Given the description of an element on the screen output the (x, y) to click on. 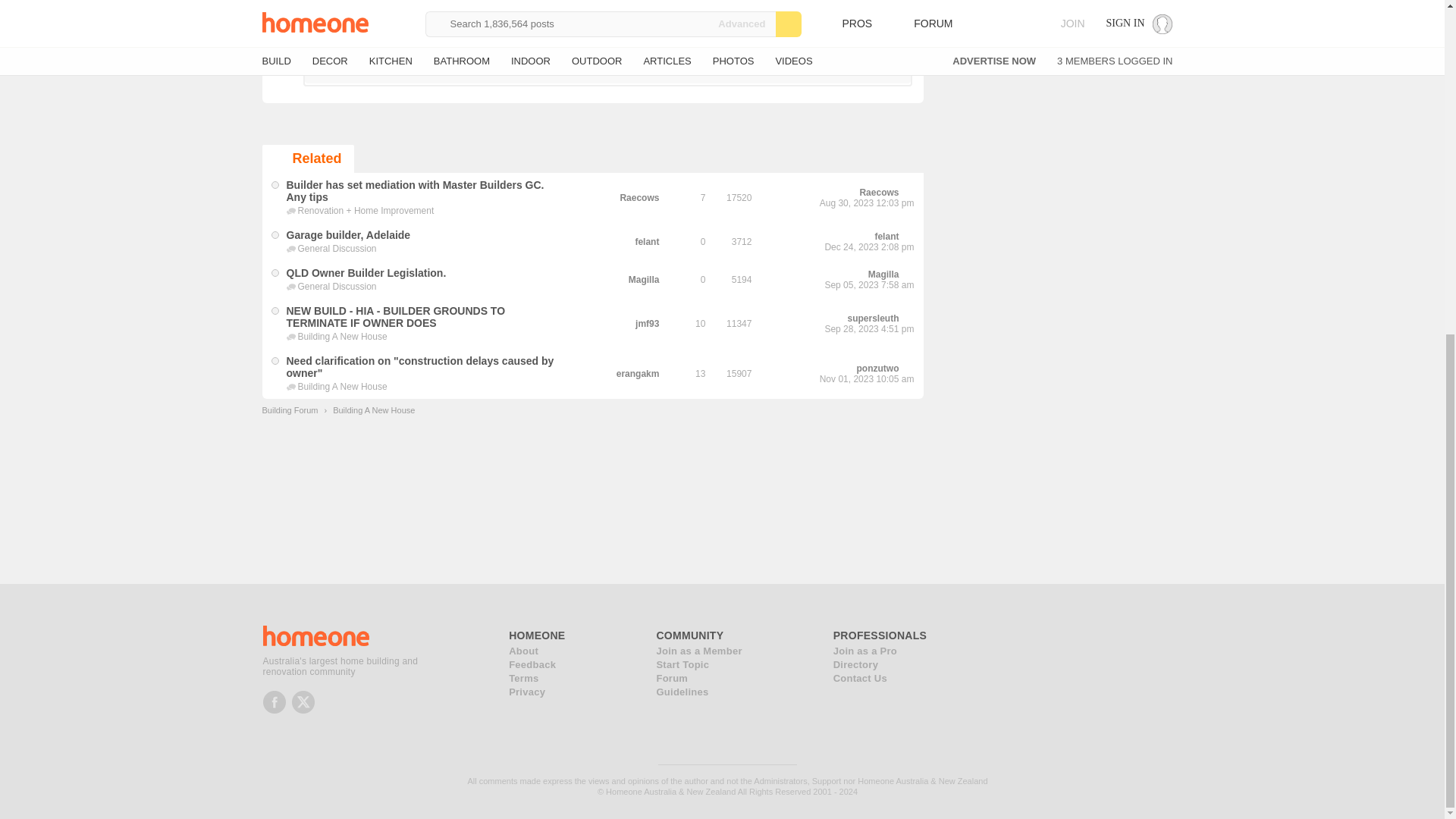
Posted: Dec 24, 2023 2:08 pm (348, 234)
Posted: Aug 28, 2023 3:57 pm (415, 191)
View the latest post (908, 193)
View the latest post (908, 275)
View the latest post (908, 236)
Posted: Sep 05, 2023 7:58 am (366, 272)
Posted: Sep 25, 2023 10:22 pm (395, 316)
